Given the description of an element on the screen output the (x, y) to click on. 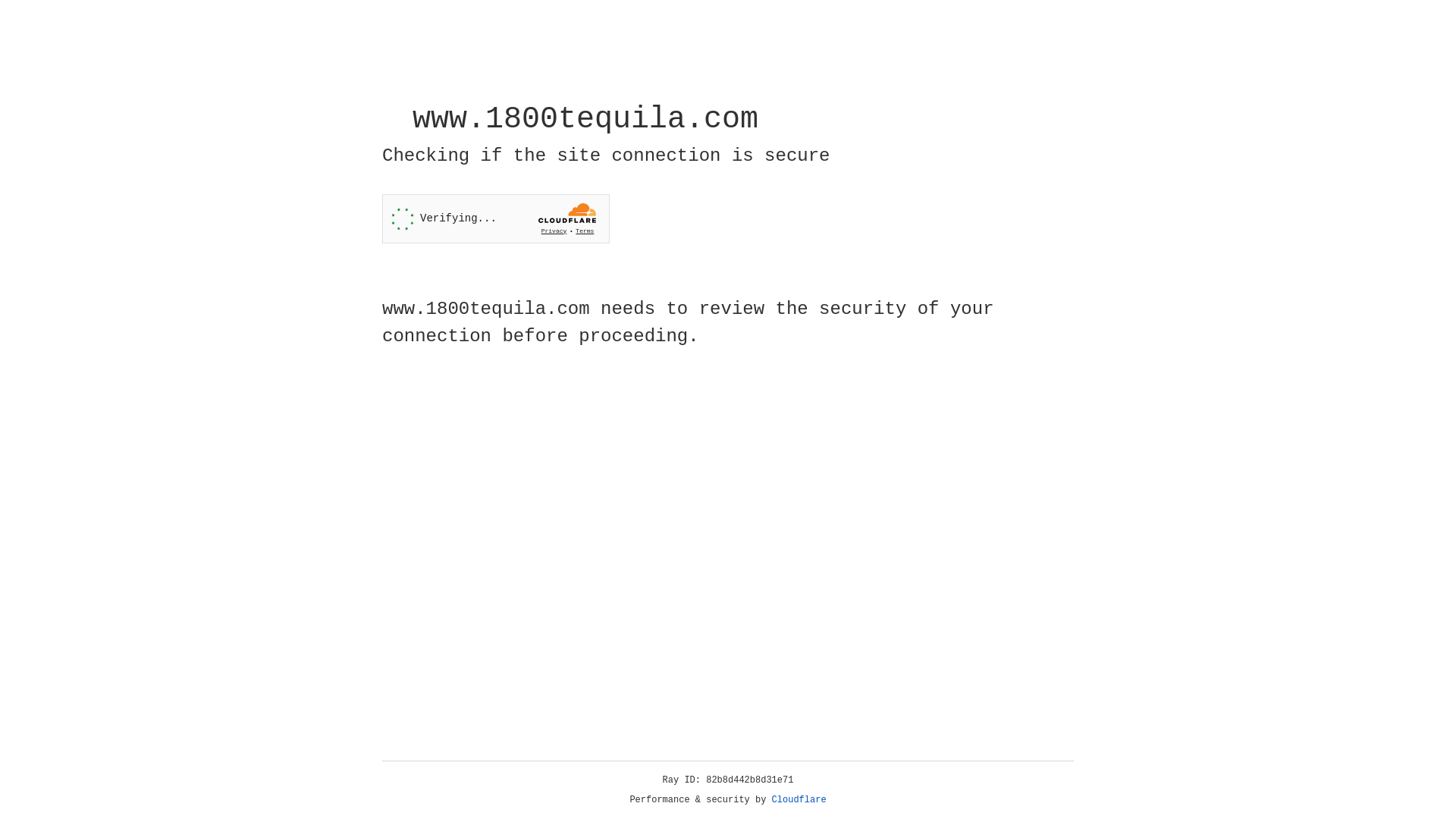
Cloudflare Element type: text (798, 799)
Widget containing a Cloudflare security challenge Element type: hover (495, 218)
